Given the description of an element on the screen output the (x, y) to click on. 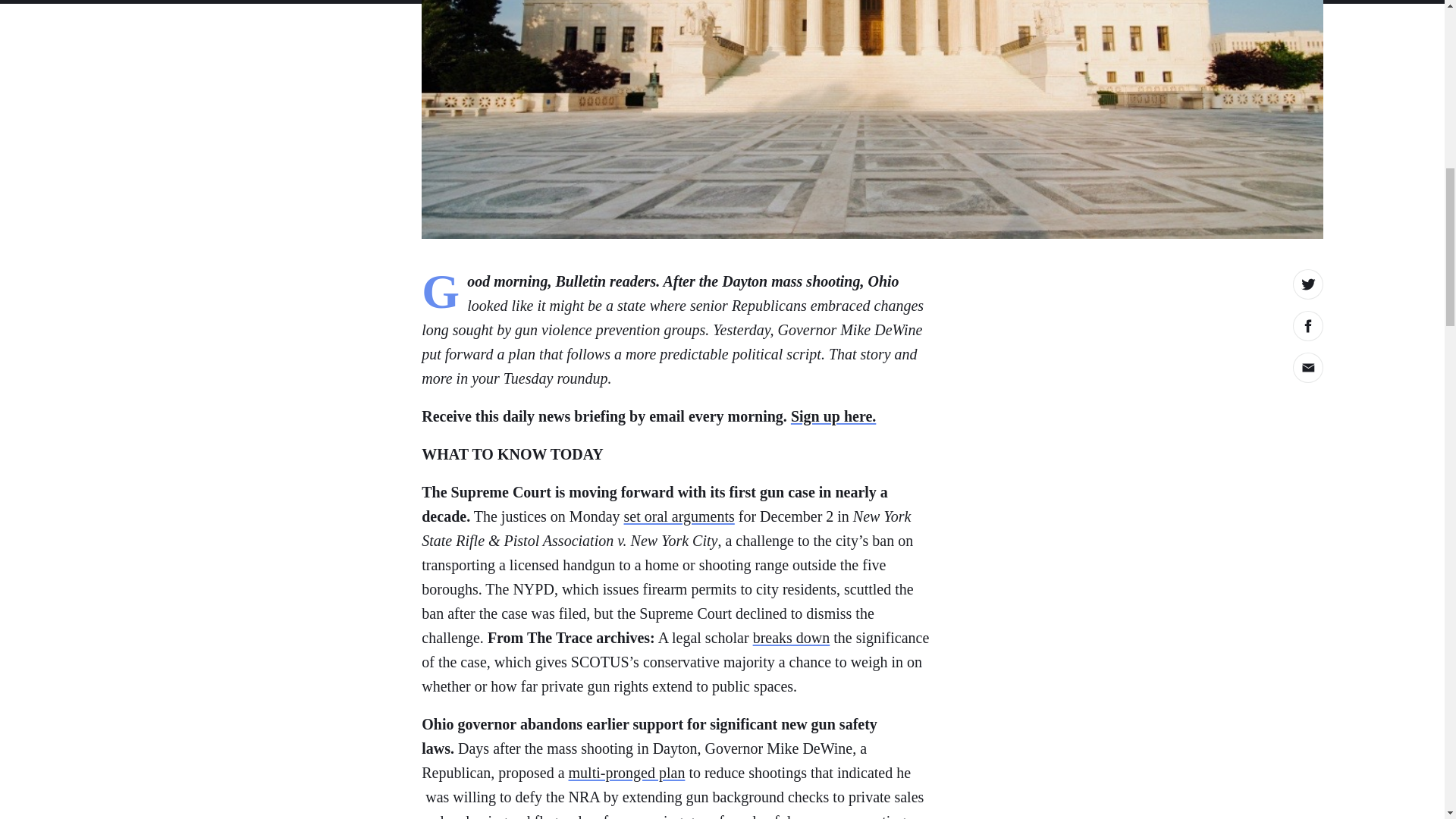
Email a link to this page (1307, 367)
set oral arguments (679, 515)
Sign up here. (833, 416)
breaks down (790, 637)
Share on Twitter (1307, 283)
Share on Facebook (1307, 326)
